Given the description of an element on the screen output the (x, y) to click on. 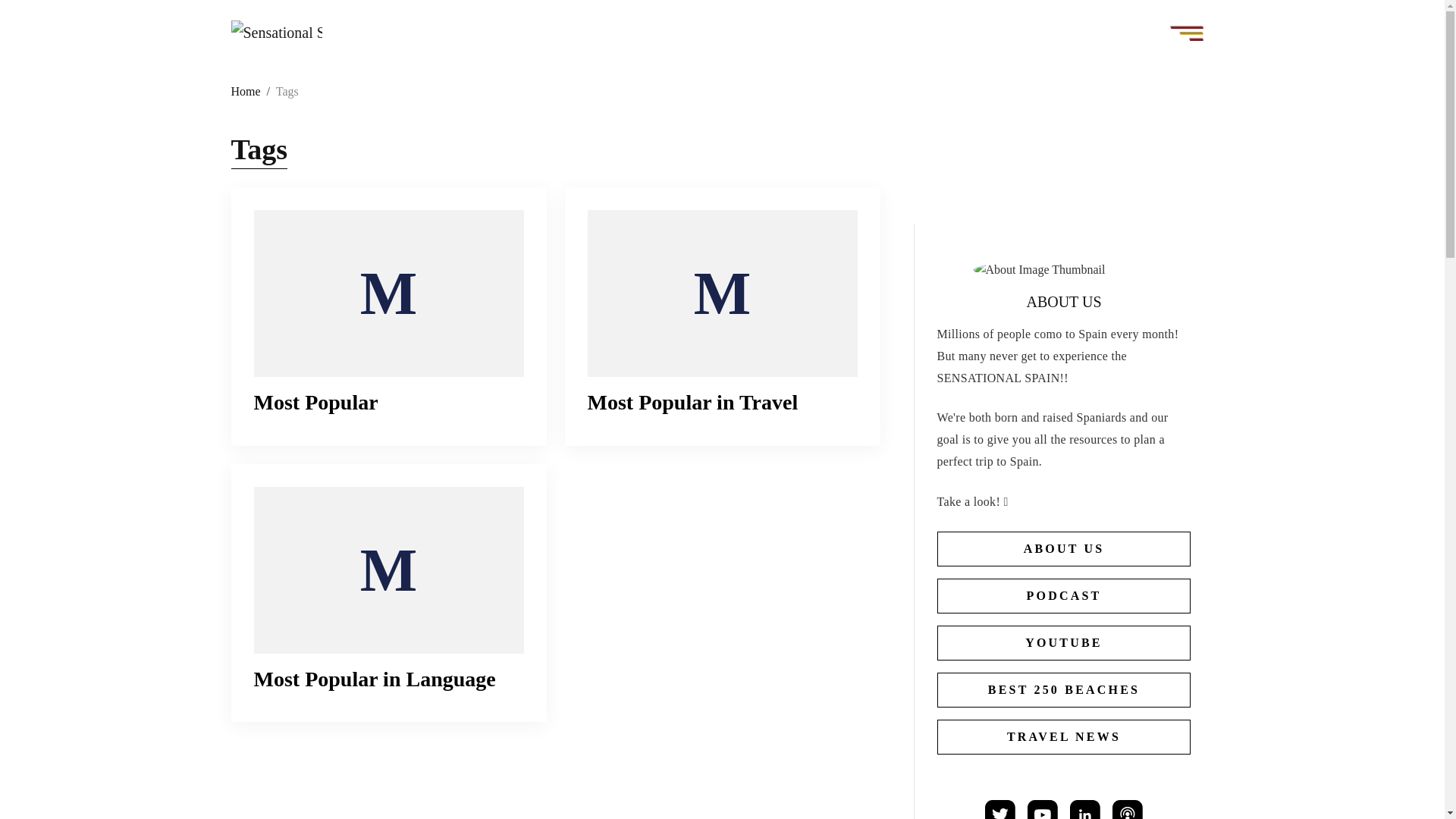
Most Popular in Travel (691, 402)
Most Popular (387, 292)
Most Popular (315, 402)
ABOUT US (1064, 548)
Home (245, 91)
Most Popular in Language (374, 679)
PODCAST (1064, 595)
YOUTUBE (1064, 642)
Most Popular in Language (387, 569)
TRAVEL NEWS (1064, 736)
BEST 250 BEACHES (1064, 689)
Most Popular in Travel (721, 292)
Tags (287, 91)
